Given the description of an element on the screen output the (x, y) to click on. 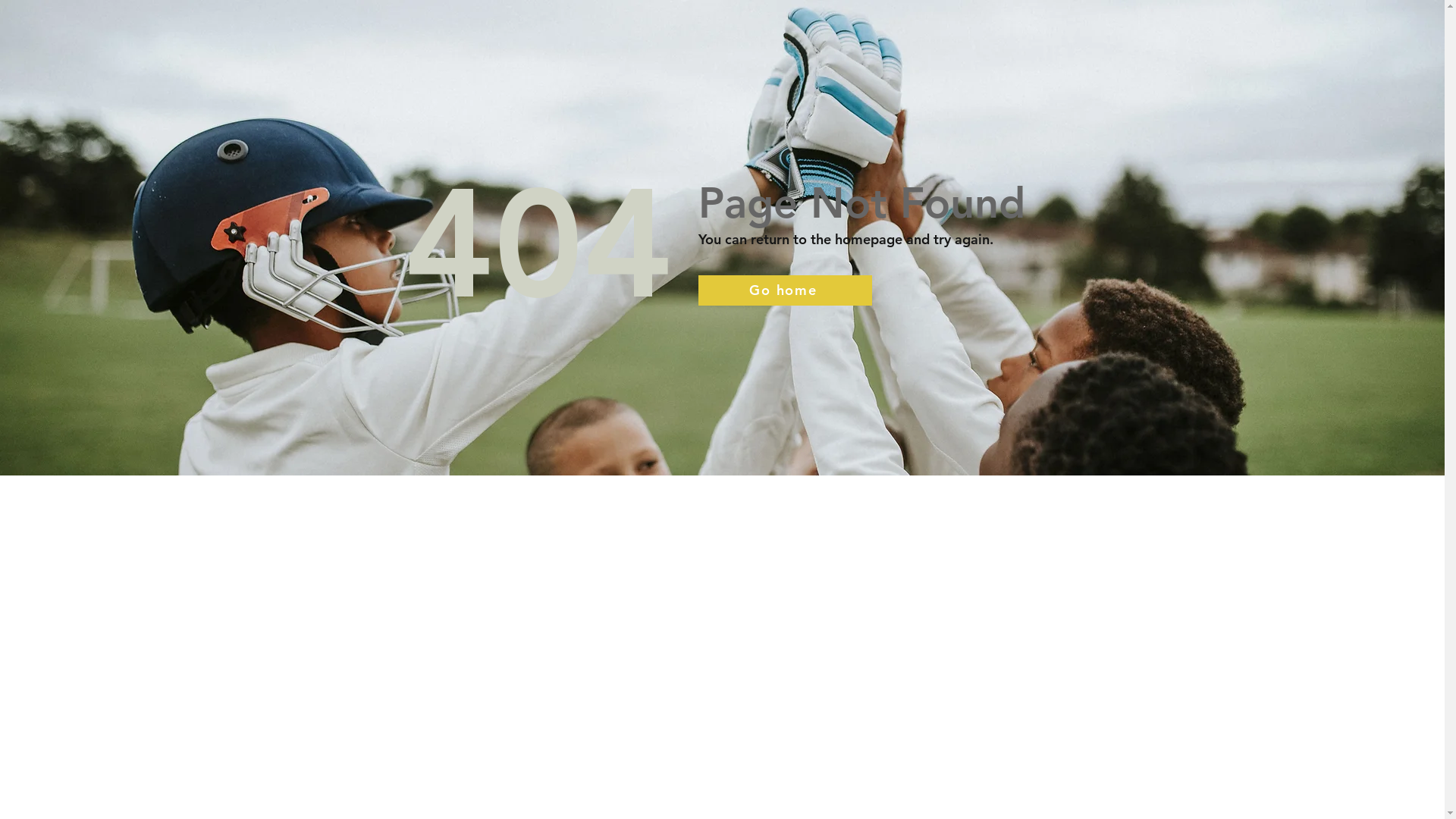
Go home Element type: text (784, 290)
